Given the description of an element on the screen output the (x, y) to click on. 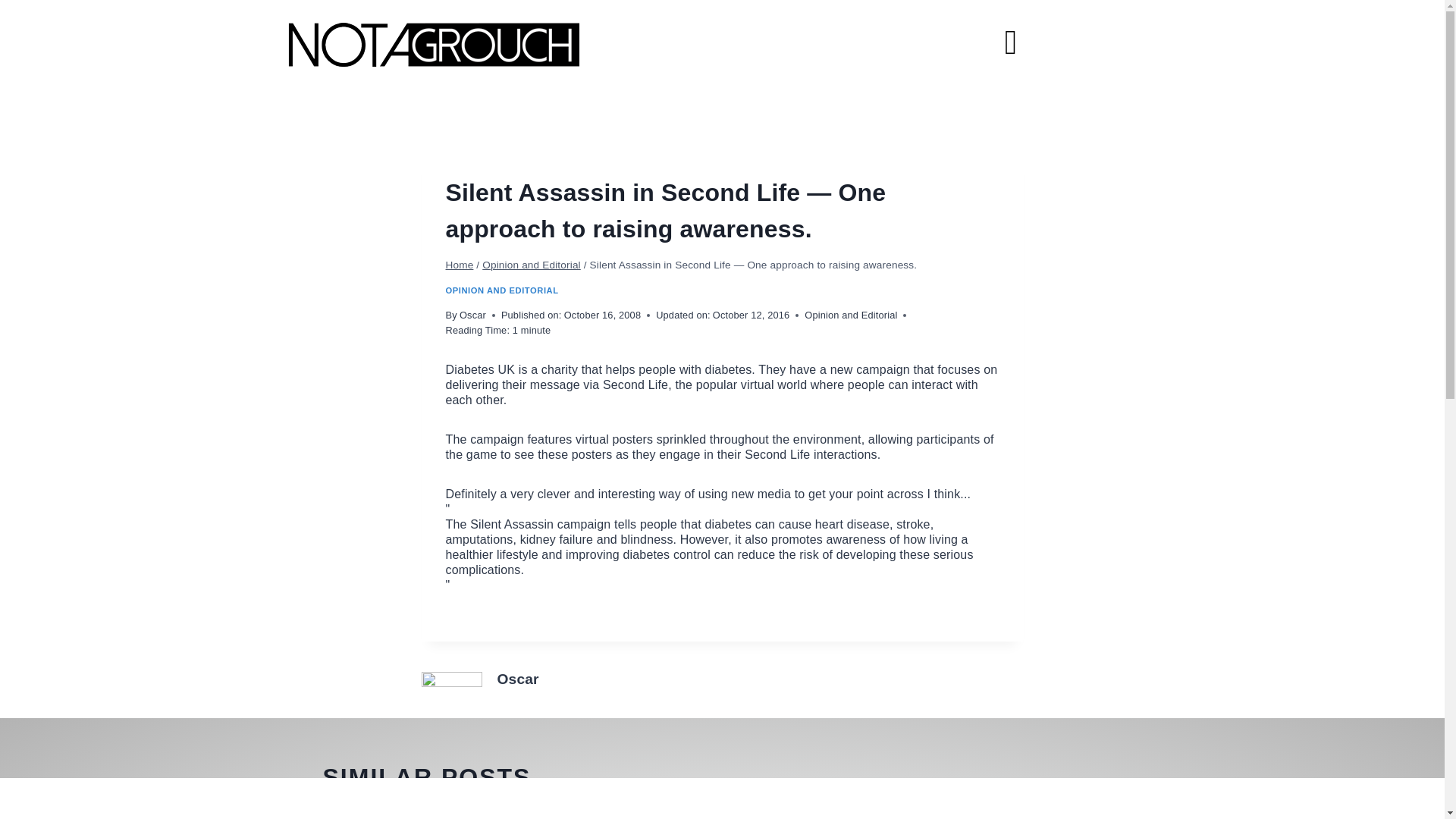
Home (459, 265)
OPINION AND EDITORIAL (502, 289)
Opinion and Editorial (530, 265)
Opinion and Editorial (850, 315)
